Given the description of an element on the screen output the (x, y) to click on. 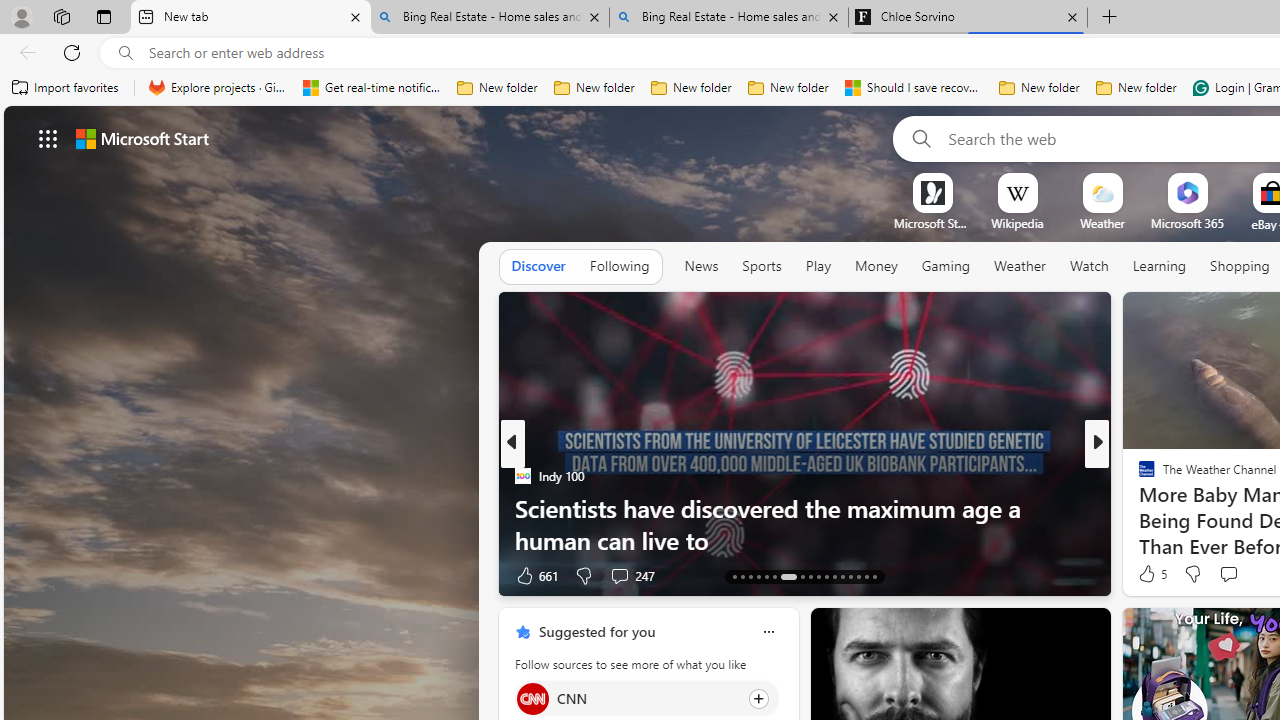
Should I save recovered Word documents? - Microsoft Support (913, 88)
Sports (761, 267)
Bing Real Estate - Home sales and rental listings (729, 17)
AutomationID: tab-16 (757, 576)
Shopping (1240, 265)
Hide this story (1050, 632)
9 Like (1145, 574)
146 Like (1151, 574)
Climate Crisis 247 (1138, 475)
View comments 2 Comment (1229, 575)
Search icon (125, 53)
AutomationID: tab-40 (857, 576)
View comments 42 Comment (11, 575)
